Given the description of an element on the screen output the (x, y) to click on. 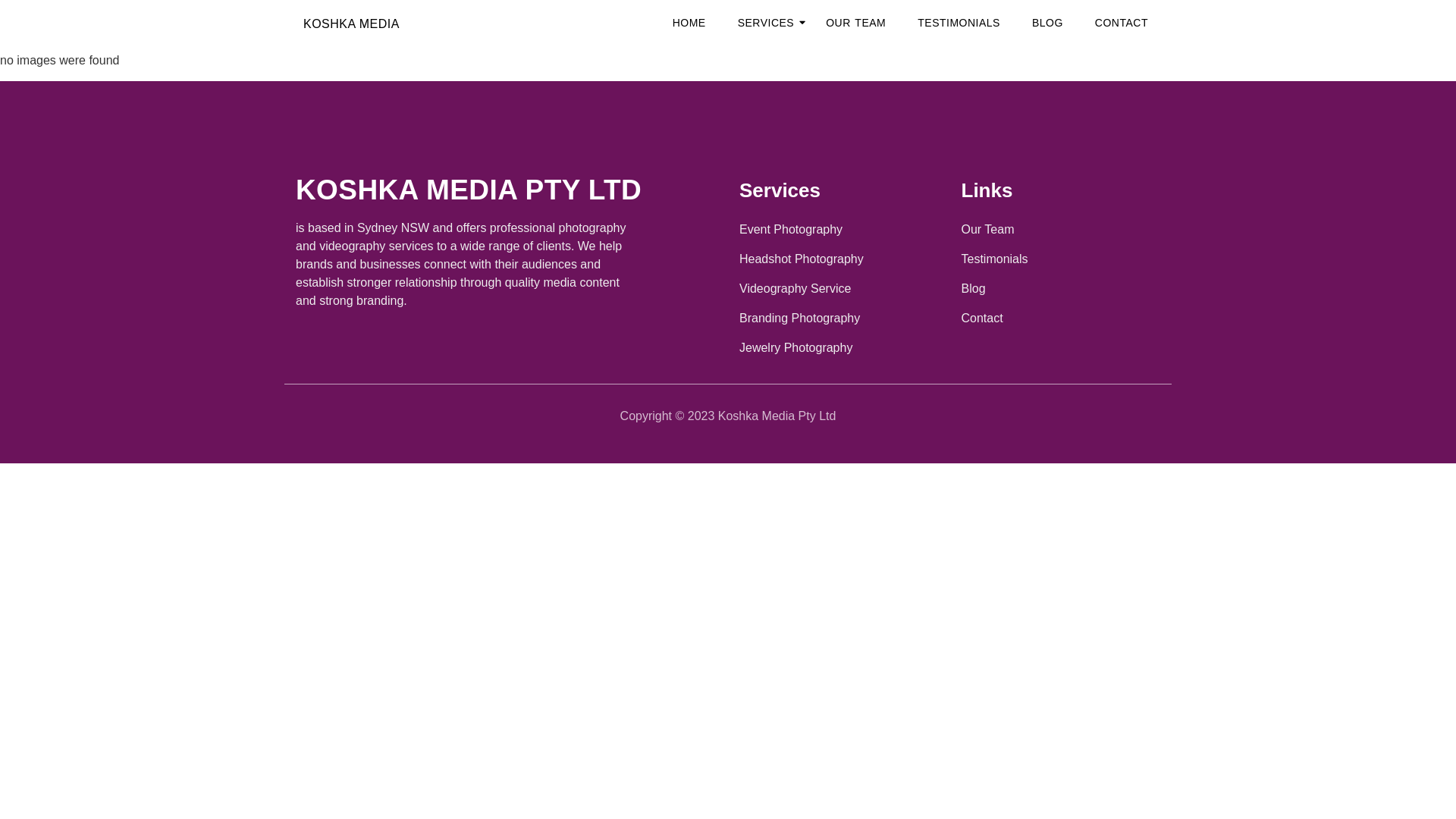
BLOG Element type: text (1047, 22)
Videography Service Element type: text (838, 288)
OUR TEAM Element type: text (855, 22)
Branding Photography Element type: text (838, 318)
Event Photography Element type: text (838, 229)
TESTIMONIALS Element type: text (958, 22)
Our Team Element type: text (1061, 229)
Testimonials Element type: text (1061, 259)
Jewelry Photography Element type: text (838, 347)
Headshot Photography Element type: text (838, 259)
CONTACT Element type: text (1121, 22)
HOME Element type: text (689, 22)
Contact Element type: text (1061, 318)
Blog Element type: text (1061, 288)
SERVICES Element type: text (766, 22)
